Given the description of an element on the screen output the (x, y) to click on. 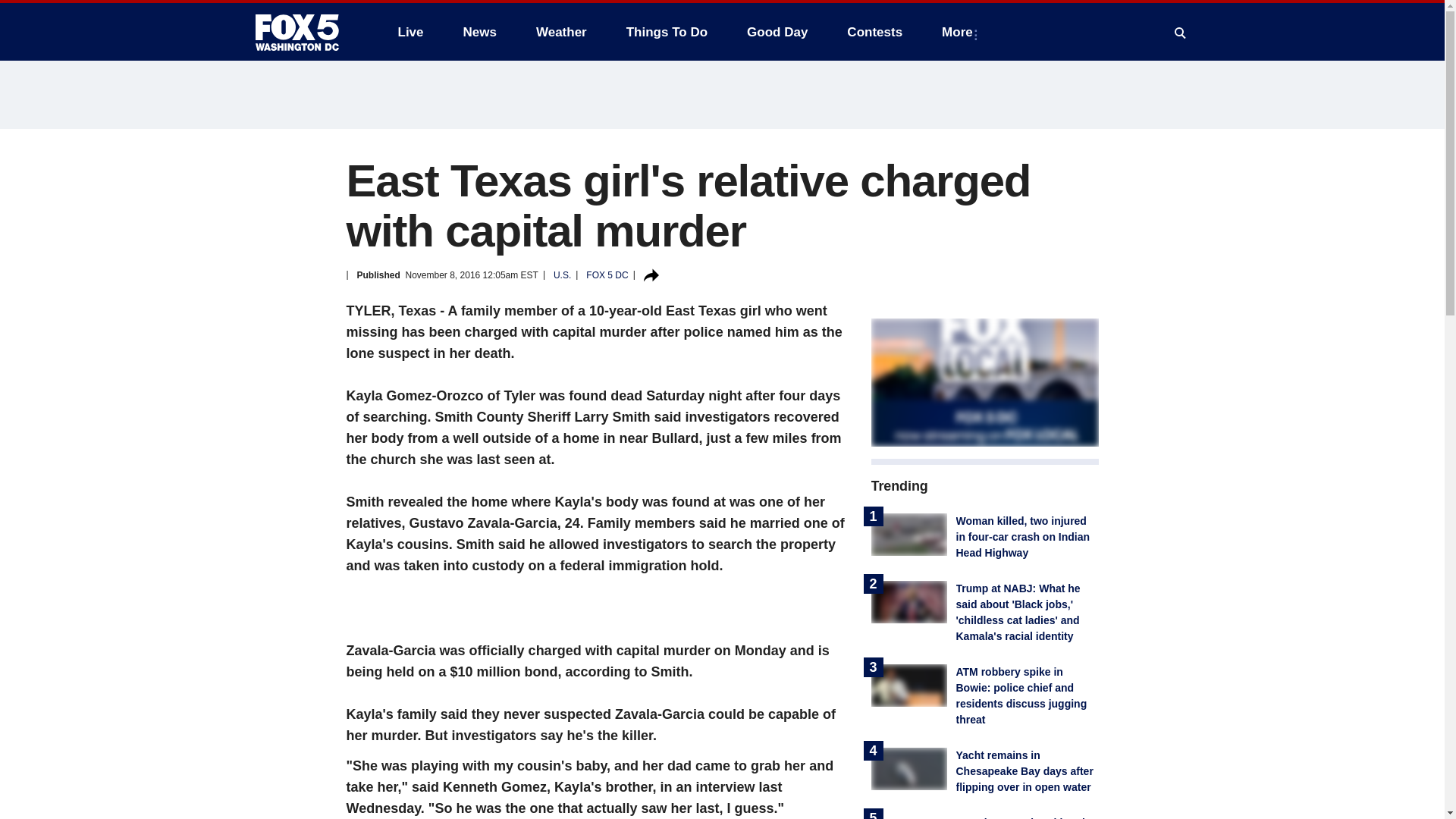
Weather (561, 32)
More (960, 32)
Live (410, 32)
Contests (874, 32)
Good Day (777, 32)
Things To Do (666, 32)
News (479, 32)
